Given the description of an element on the screen output the (x, y) to click on. 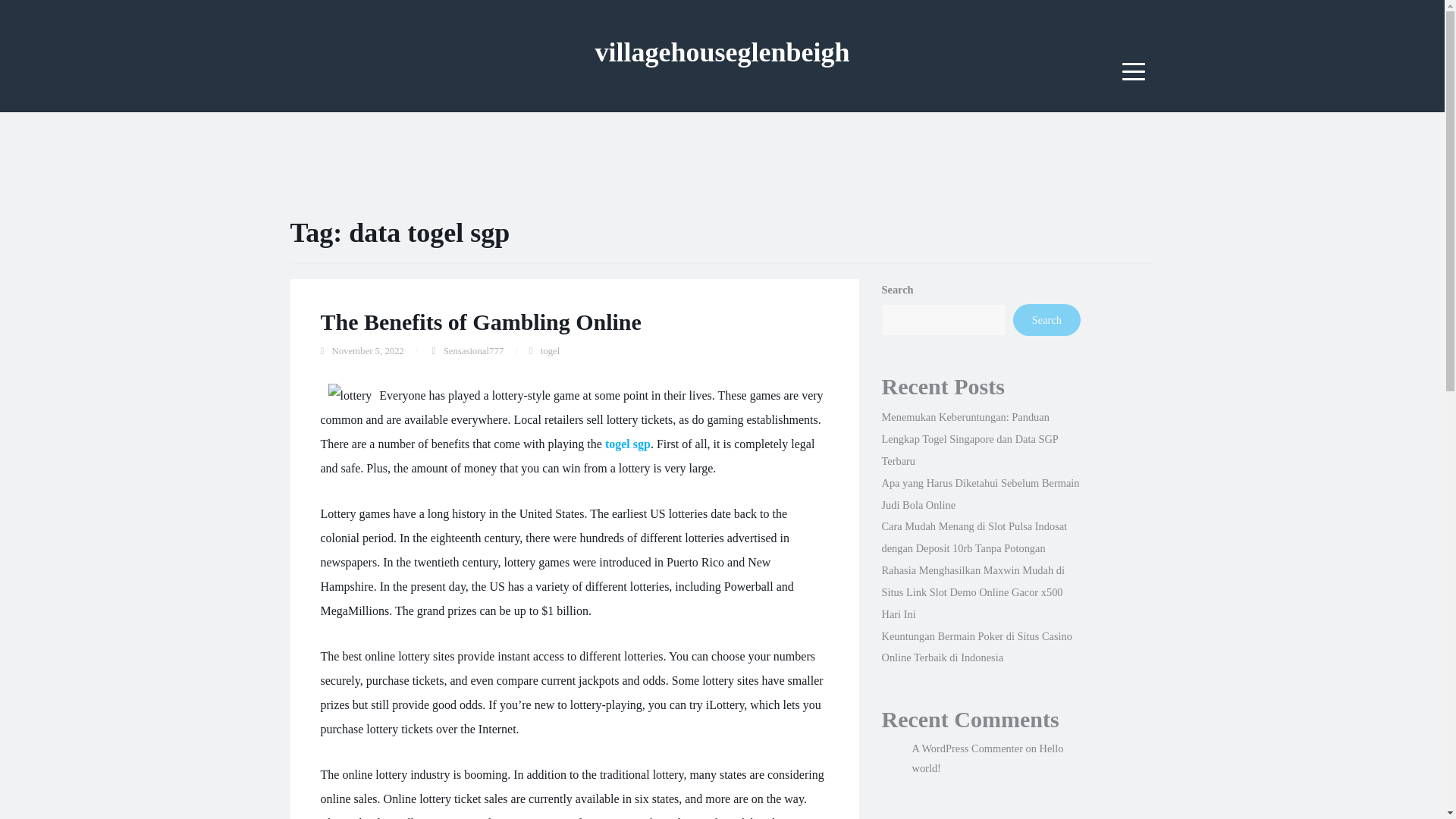
Search (1046, 319)
Hello world! (986, 757)
Apa yang Harus Diketahui Sebelum Bermain Judi Bola Online (979, 493)
November 5, 2022 (367, 350)
villagehouseglenbeigh (721, 51)
A WordPress Commenter (966, 748)
togel sgp (627, 443)
Sensasional777 (473, 350)
Menu (1133, 71)
togel (550, 350)
The Benefits of Gambling Online (480, 321)
